Given the description of an element on the screen output the (x, y) to click on. 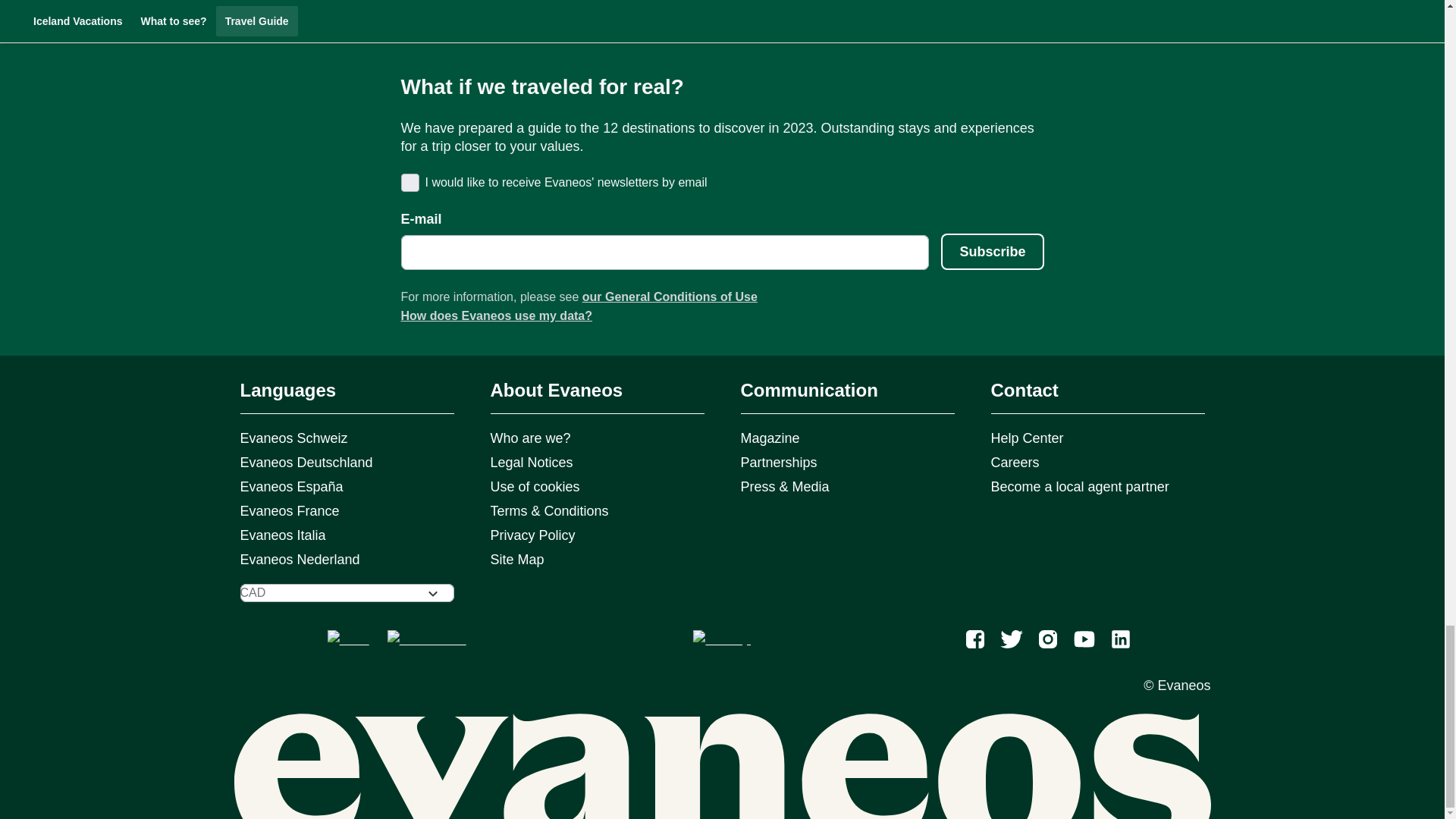
on (408, 181)
